Given the description of an element on the screen output the (x, y) to click on. 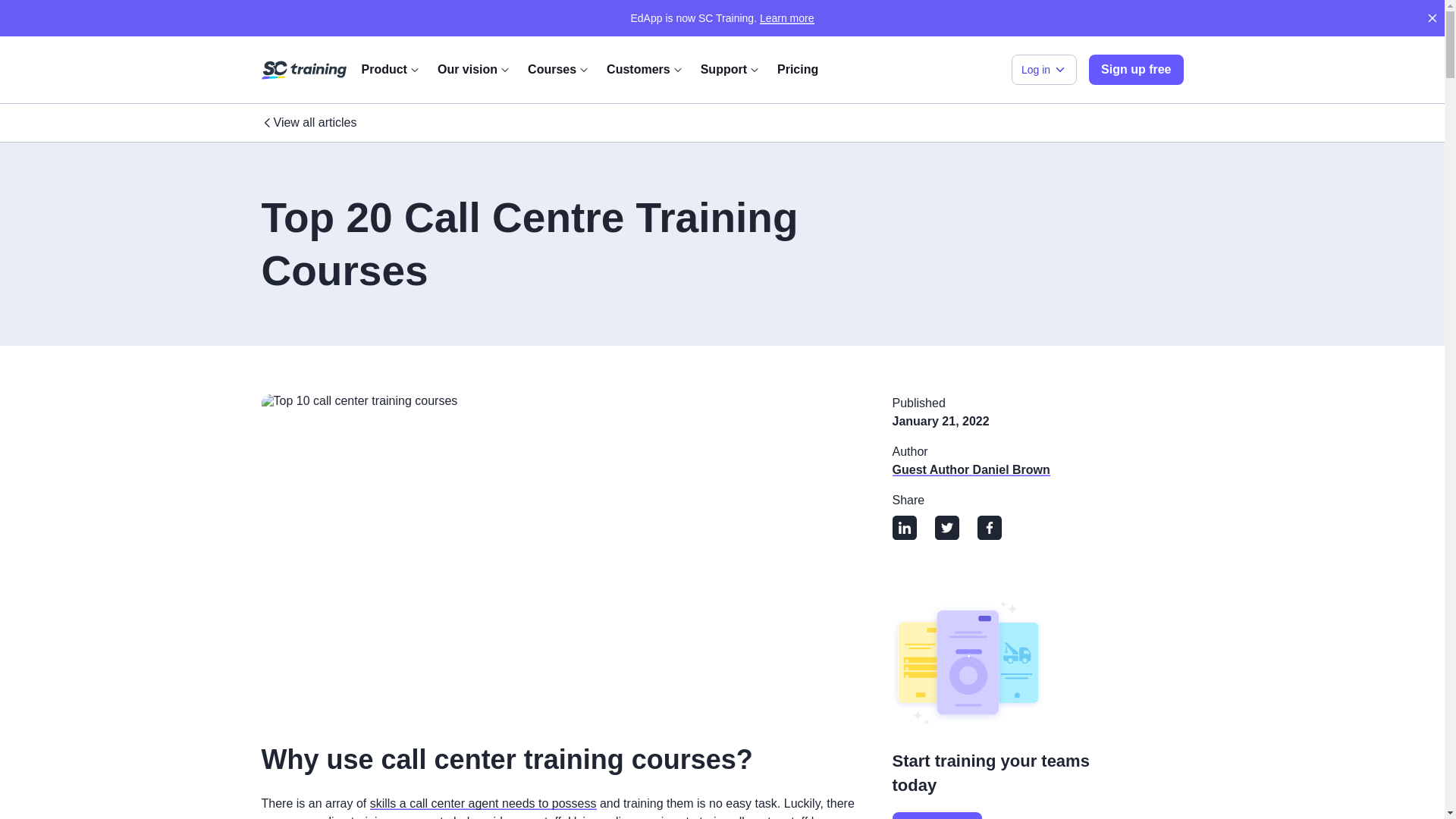
EdApp Learner (1031, 98)
Facebook (988, 528)
EdApp LMS Home (303, 70)
Learn more (786, 18)
